Given the description of an element on the screen output the (x, y) to click on. 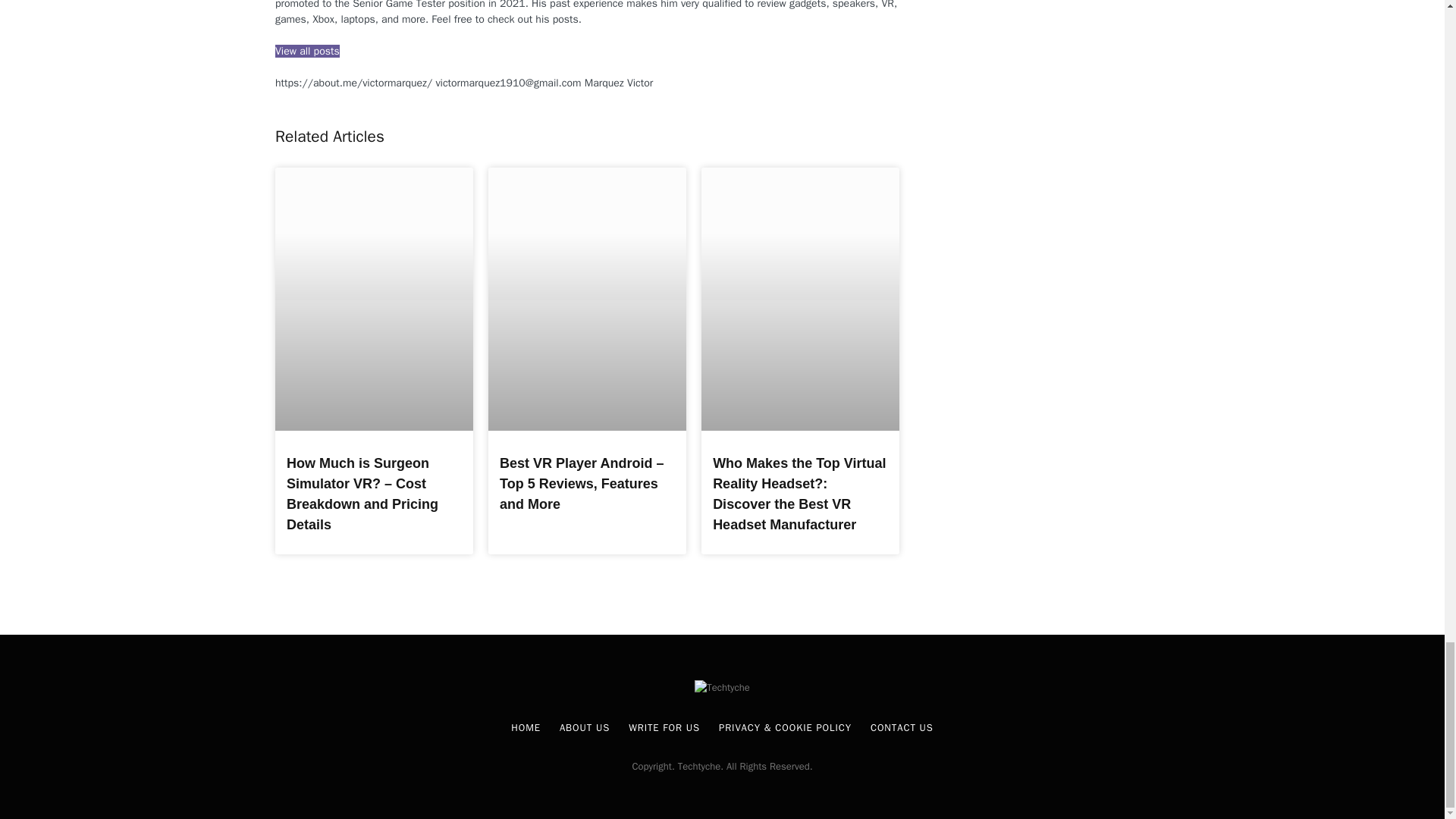
View all posts (307, 51)
